Given the description of an element on the screen output the (x, y) to click on. 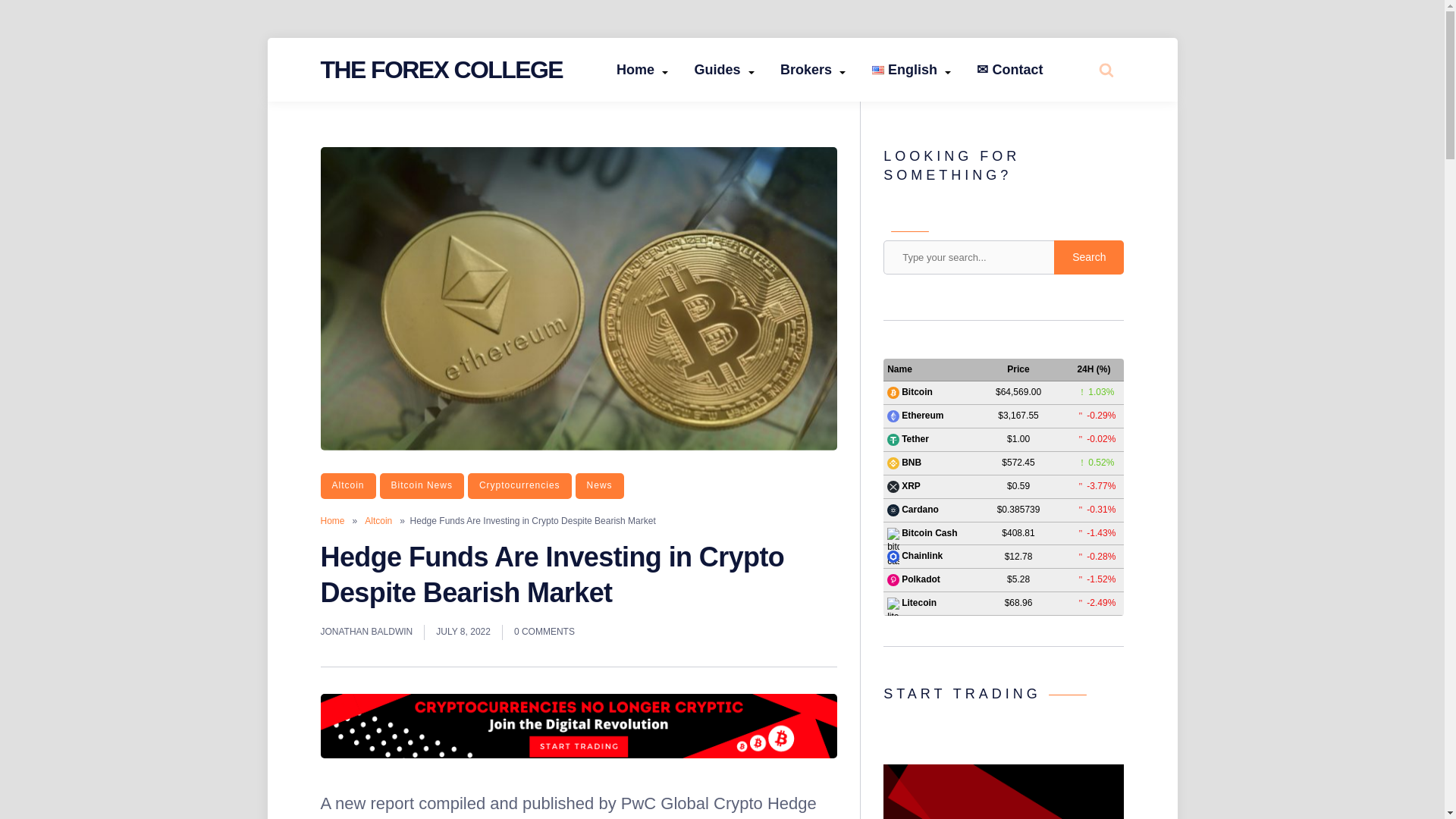
Brokers (812, 69)
Home (642, 69)
Cryptocurrencies (519, 485)
Search (1089, 256)
JONATHAN BALDWIN (366, 631)
Altcoin (347, 485)
Bitcoin News (422, 485)
News (599, 485)
THE FOREX COLLEGE (441, 69)
English (911, 69)
Home (331, 520)
Guides (723, 69)
Search (1074, 127)
Altcoin (378, 520)
